Given the description of an element on the screen output the (x, y) to click on. 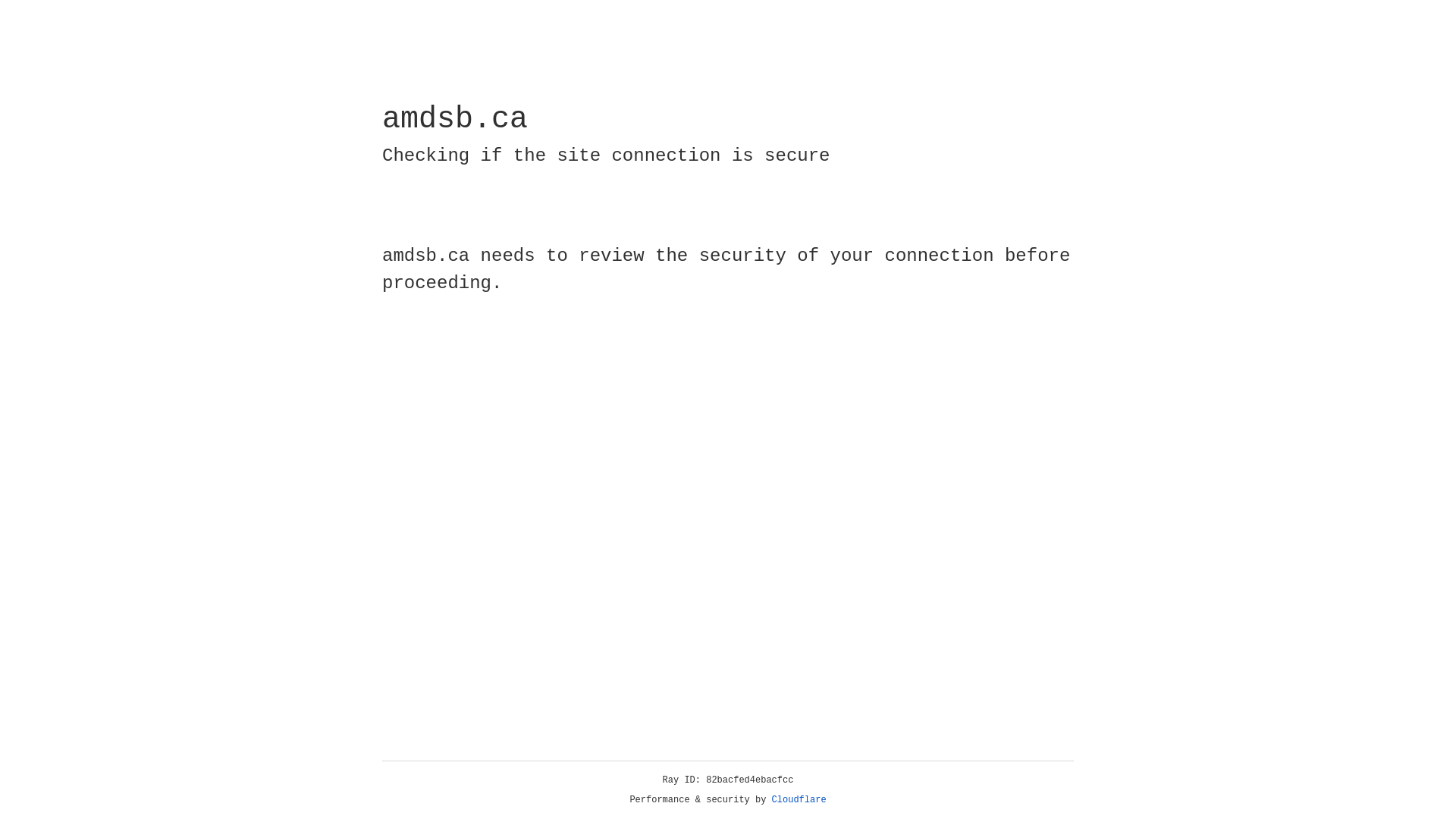
Cloudflare Element type: text (798, 799)
